Given the description of an element on the screen output the (x, y) to click on. 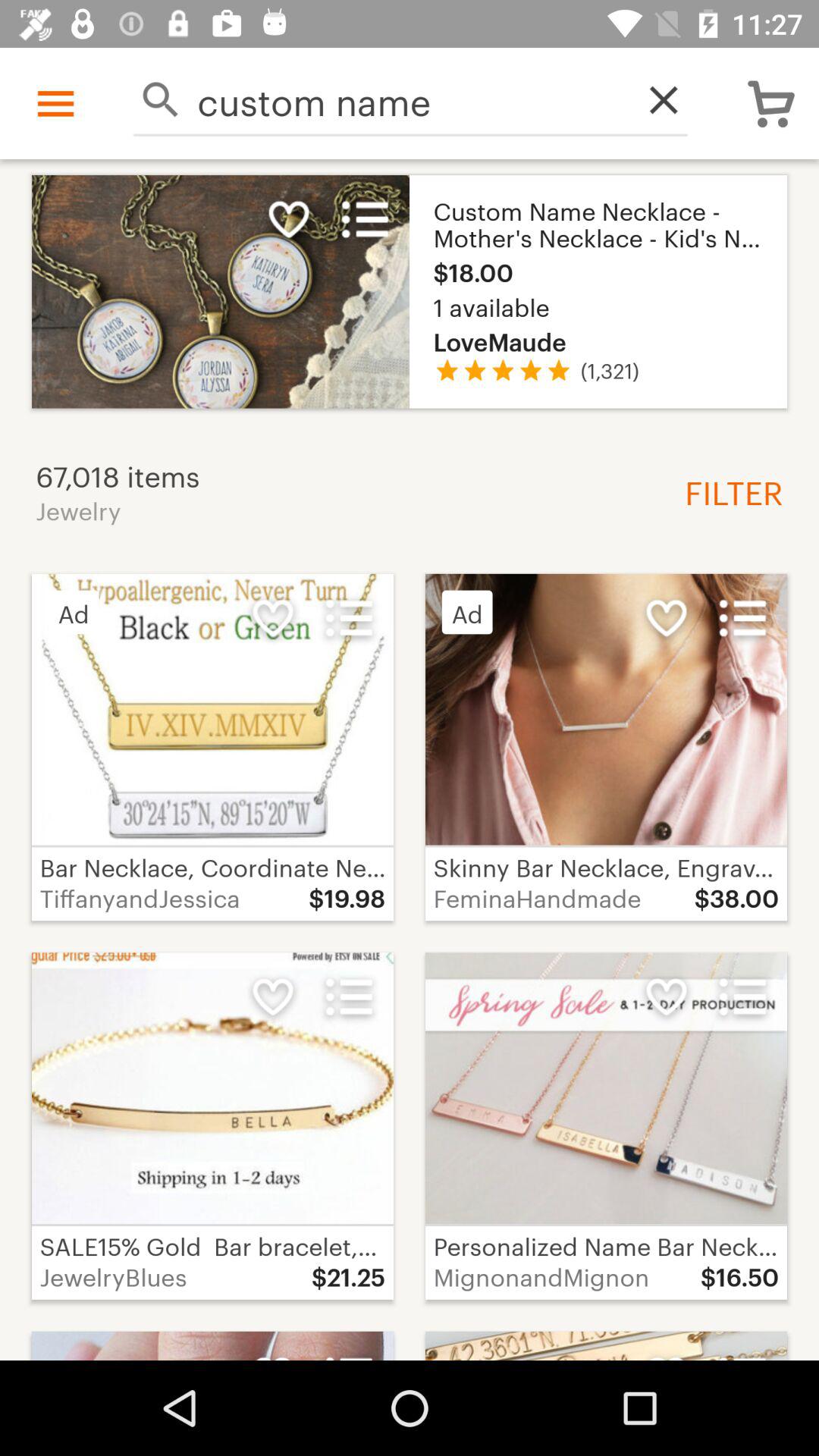
click on the top image (409, 291)
click on fourth image at bottom right (606, 1126)
click the cart icon (771, 103)
click on the image which is below filter option (606, 746)
click on the menu button on the third image (742, 617)
click the heart icon from third row first box (273, 997)
select the image above tiffany and jessica (212, 709)
